Given the description of an element on the screen output the (x, y) to click on. 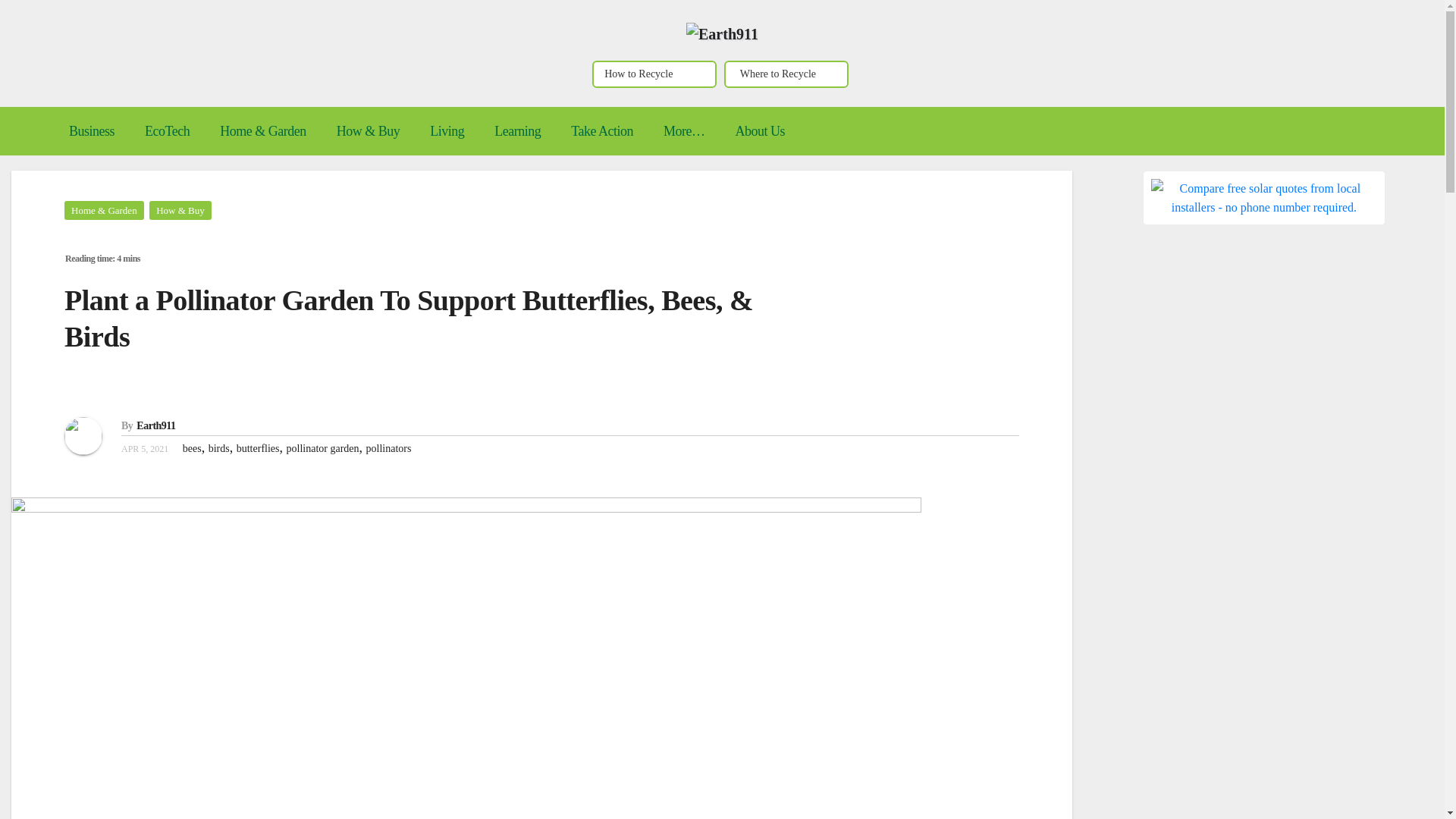
About Us (759, 131)
butterflies (257, 448)
Home (38, 120)
birds (219, 448)
EcoTech (167, 131)
Living (446, 131)
Earth911 (155, 425)
Learning (517, 131)
Living (446, 131)
EcoTech (167, 131)
